Given the description of an element on the screen output the (x, y) to click on. 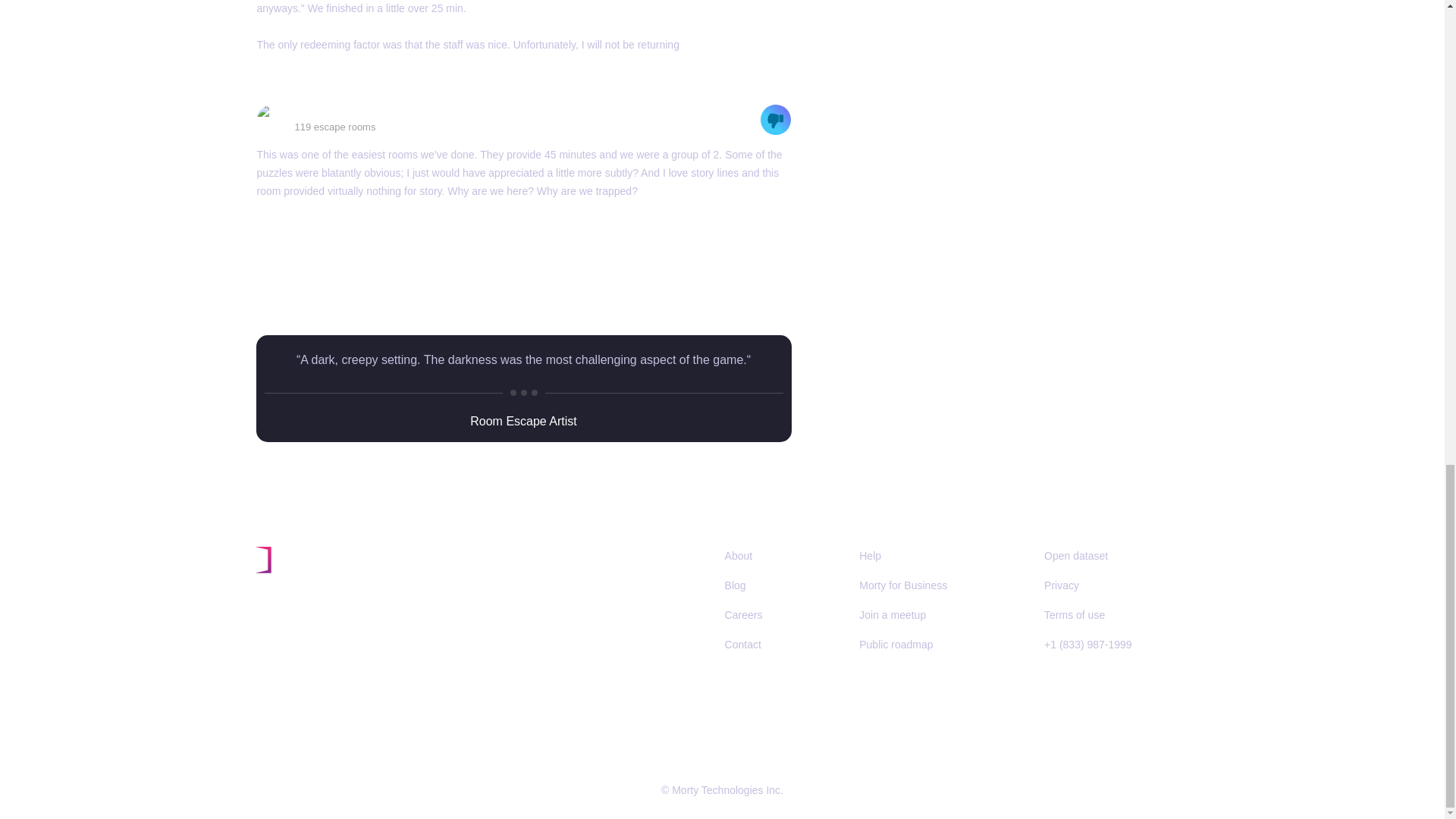
About (738, 555)
Room Escape Artist (523, 420)
Careers (749, 614)
Blog (740, 585)
theatlescapecouple (346, 111)
Contact (743, 644)
